Given the description of an element on the screen output the (x, y) to click on. 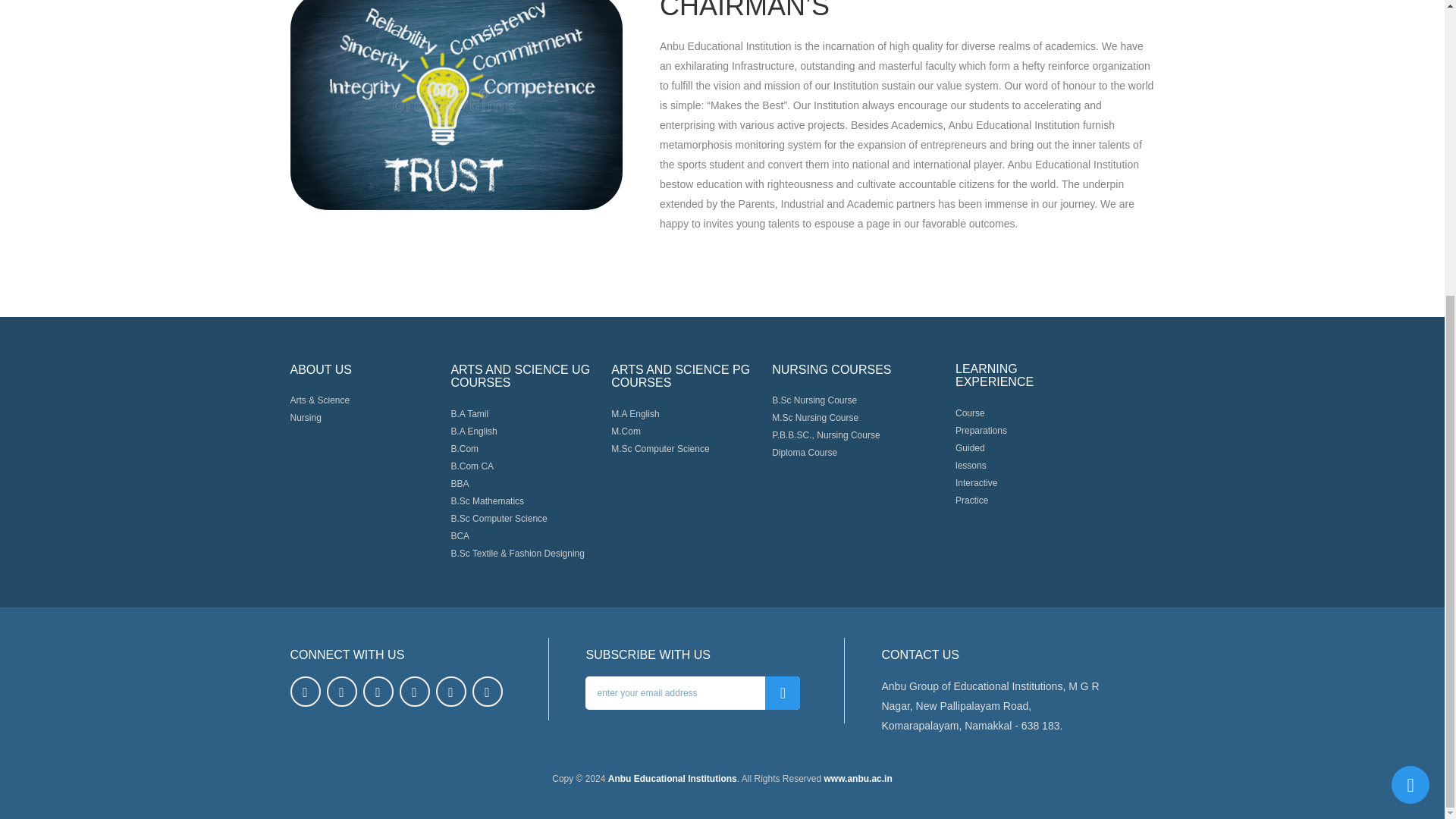
Subscribe (782, 693)
